Given the description of an element on the screen output the (x, y) to click on. 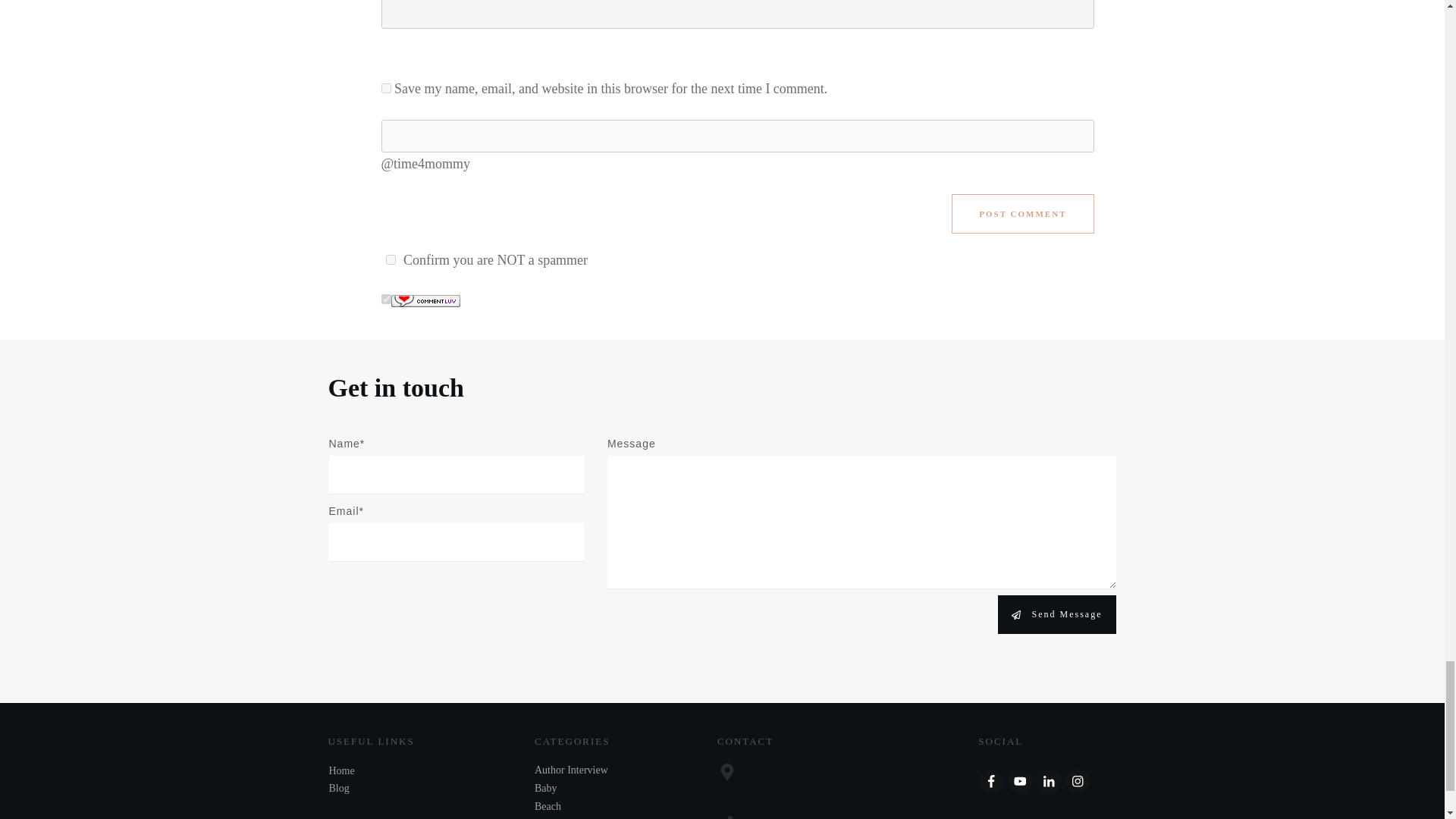
on (385, 298)
on (389, 259)
yes (385, 88)
CommentLuv is enabled (425, 299)
